Given the description of an element on the screen output the (x, y) to click on. 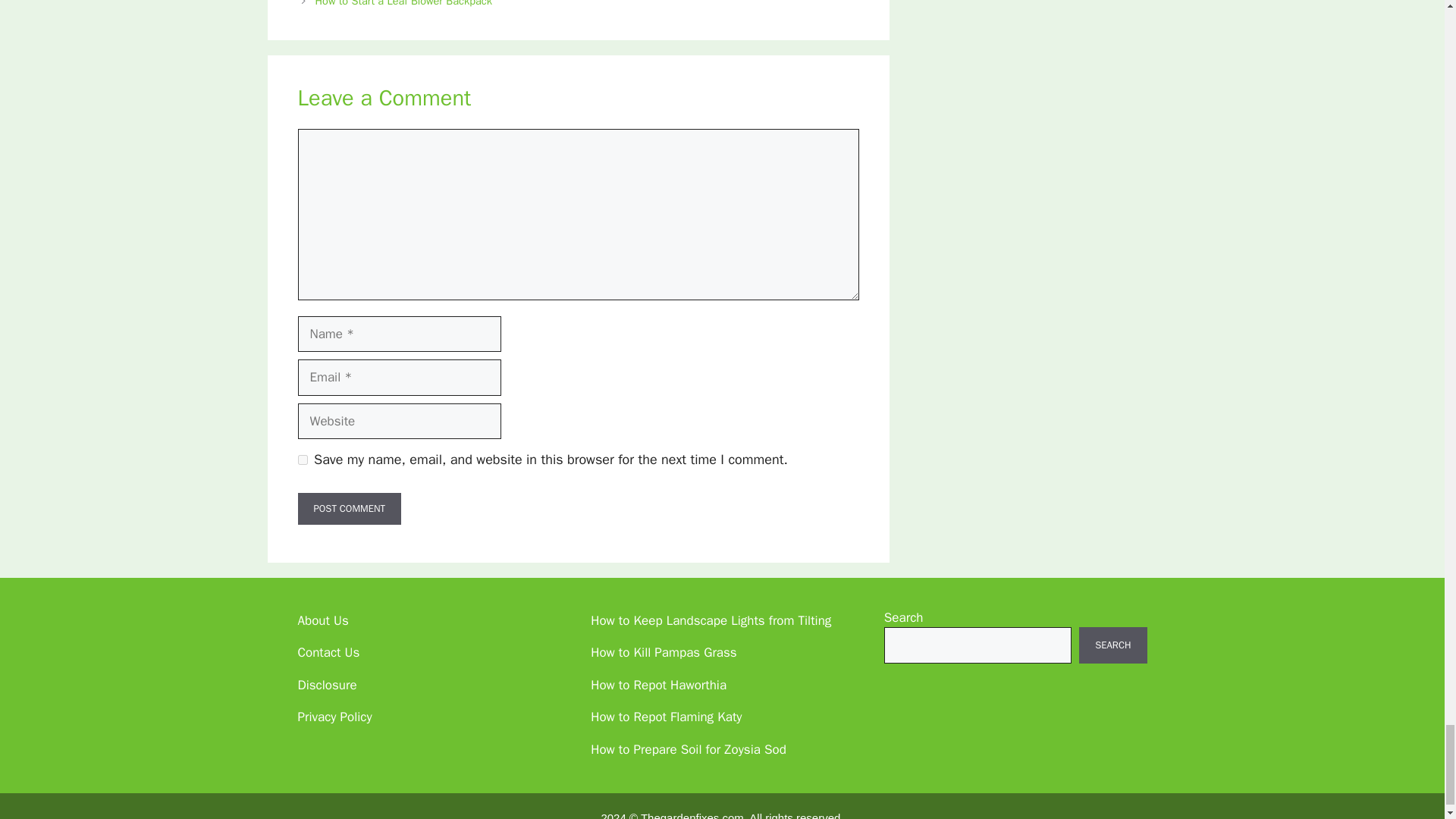
yes (302, 460)
How to Prepare Soil for Zoysia Sod (688, 749)
Privacy Policy (334, 716)
About Us (322, 620)
Disclosure (326, 684)
Post Comment (349, 508)
Contact Us (328, 652)
Post Comment (349, 508)
How to Keep Landscape Lights from Tilting (711, 620)
How to Repot Haworthia (658, 684)
